Given the description of an element on the screen output the (x, y) to click on. 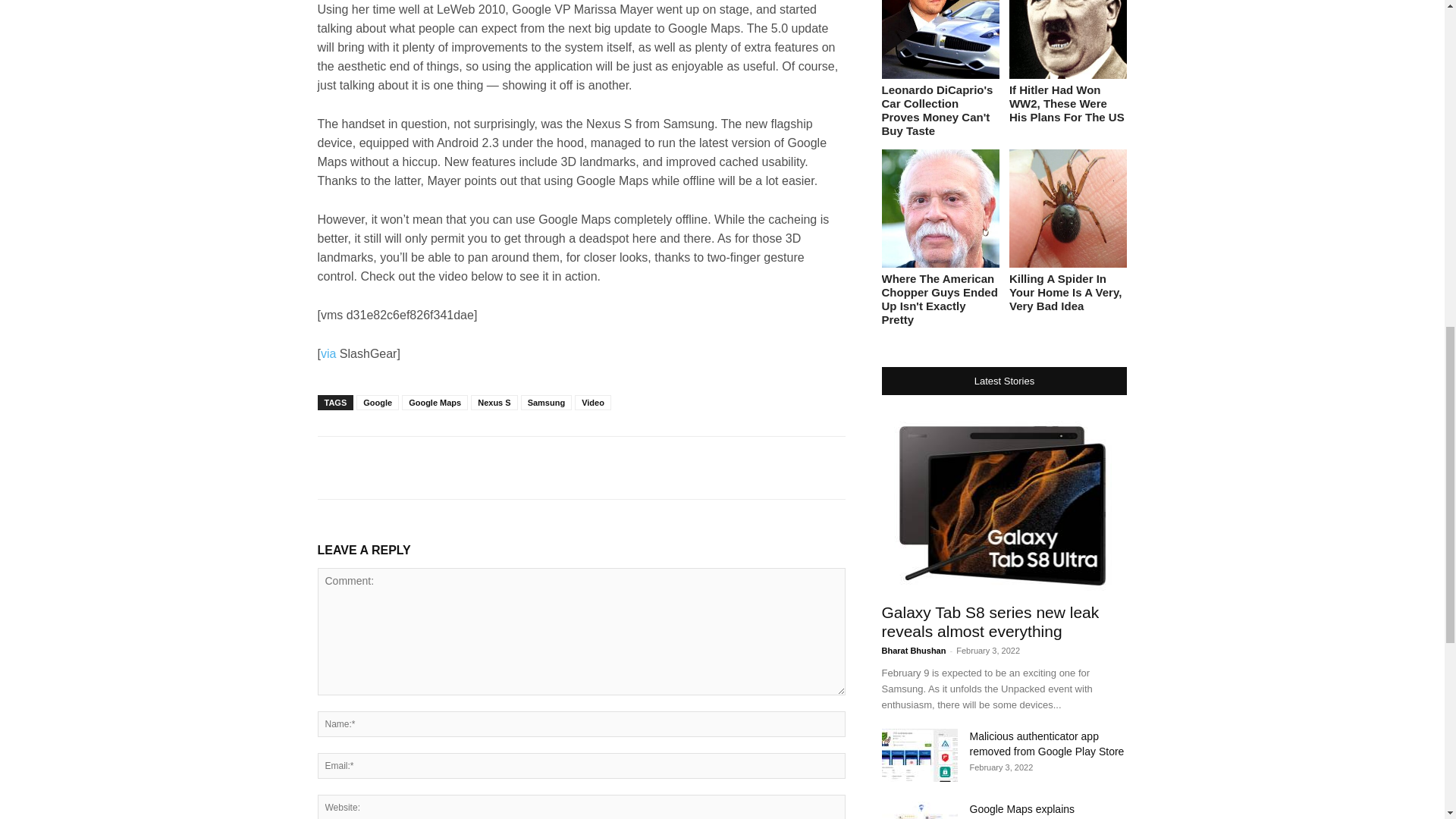
Google (377, 402)
Samsung (546, 402)
Google Maps (434, 402)
via (328, 353)
Nexus S (493, 402)
Video (593, 402)
